Given the description of an element on the screen output the (x, y) to click on. 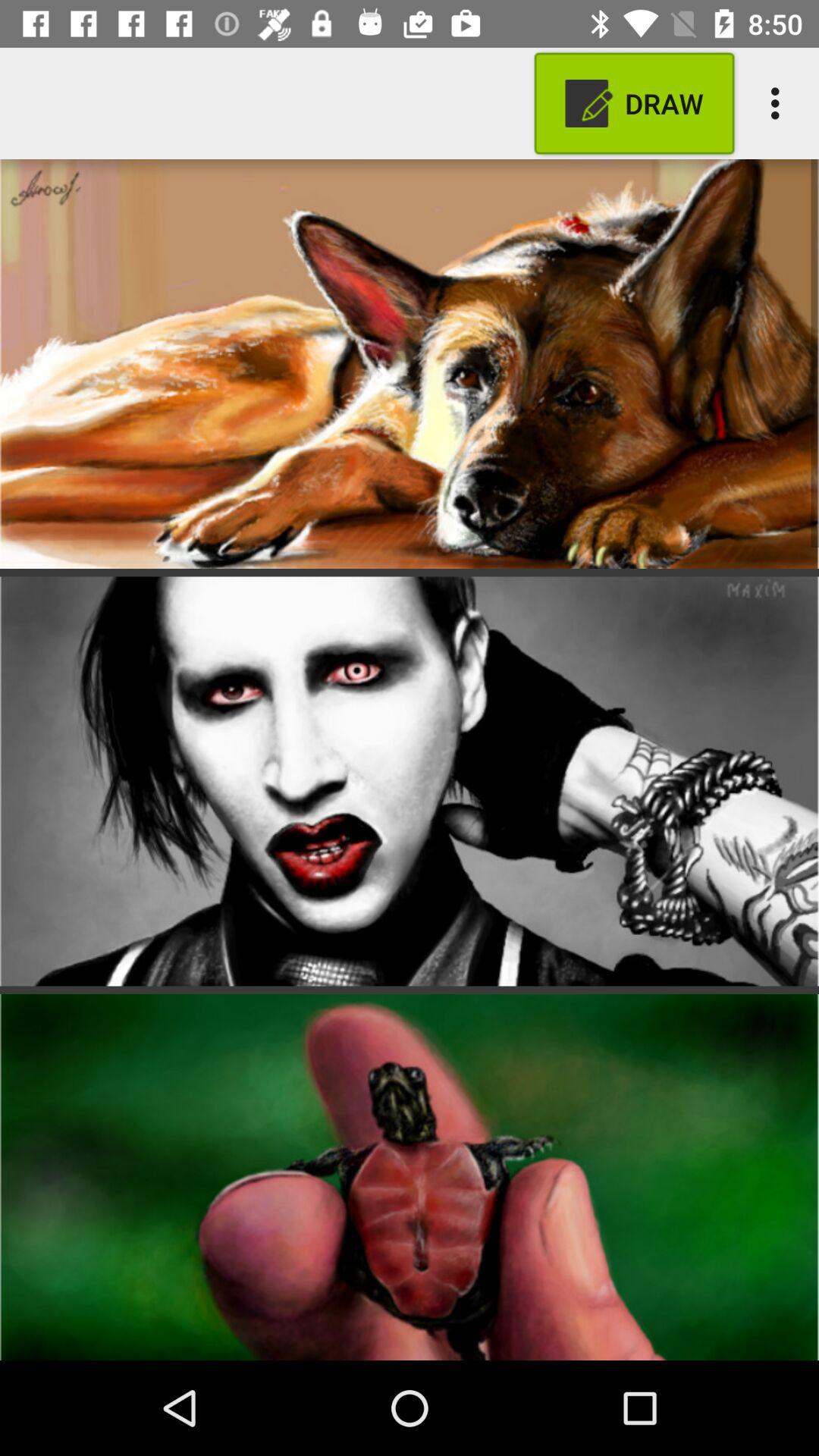
tap icon to the right of draw item (779, 103)
